Given the description of an element on the screen output the (x, y) to click on. 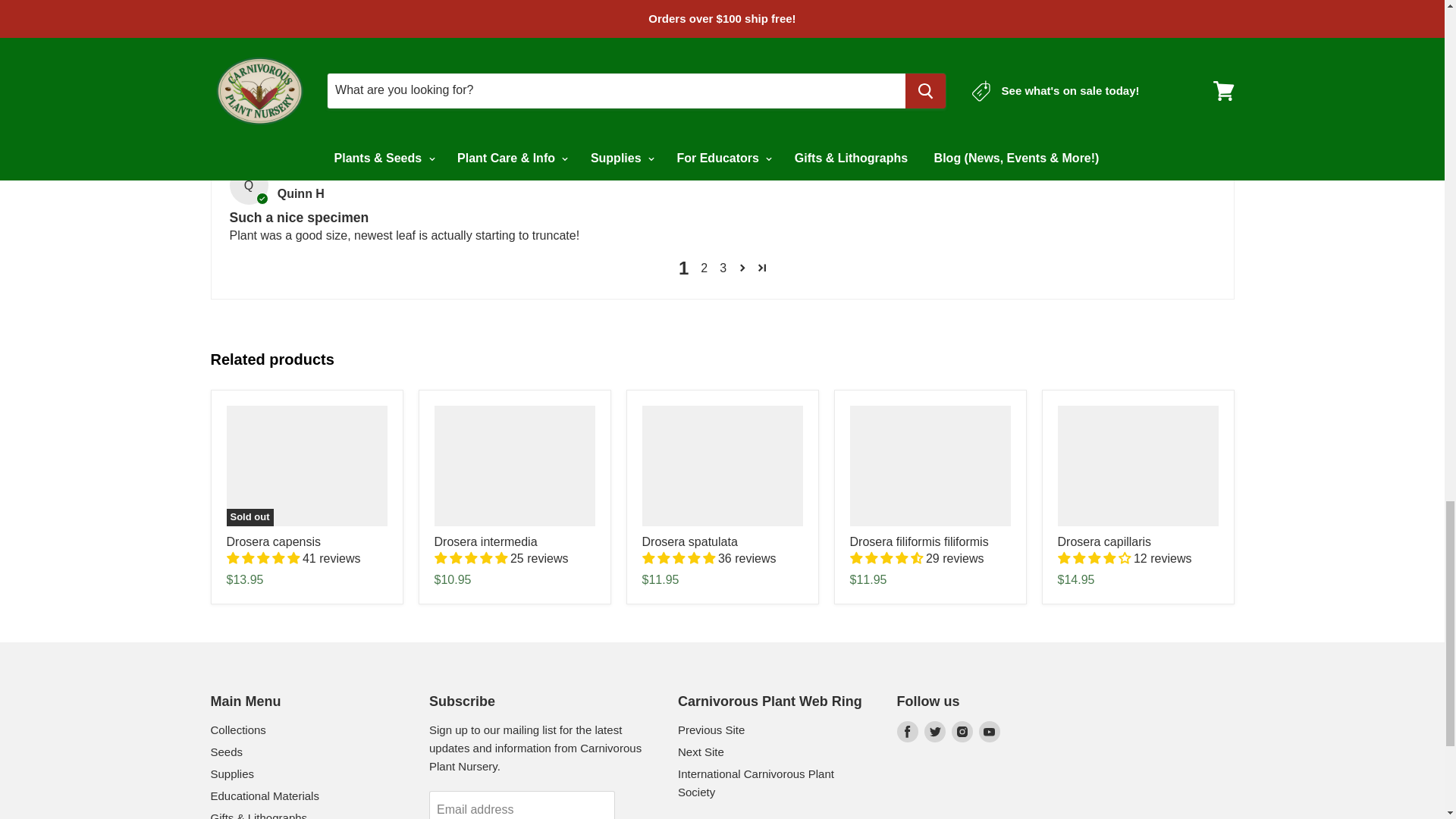
Youtube (989, 731)
Twitter (933, 731)
Instagram (961, 731)
Facebook (906, 731)
